Given the description of an element on the screen output the (x, y) to click on. 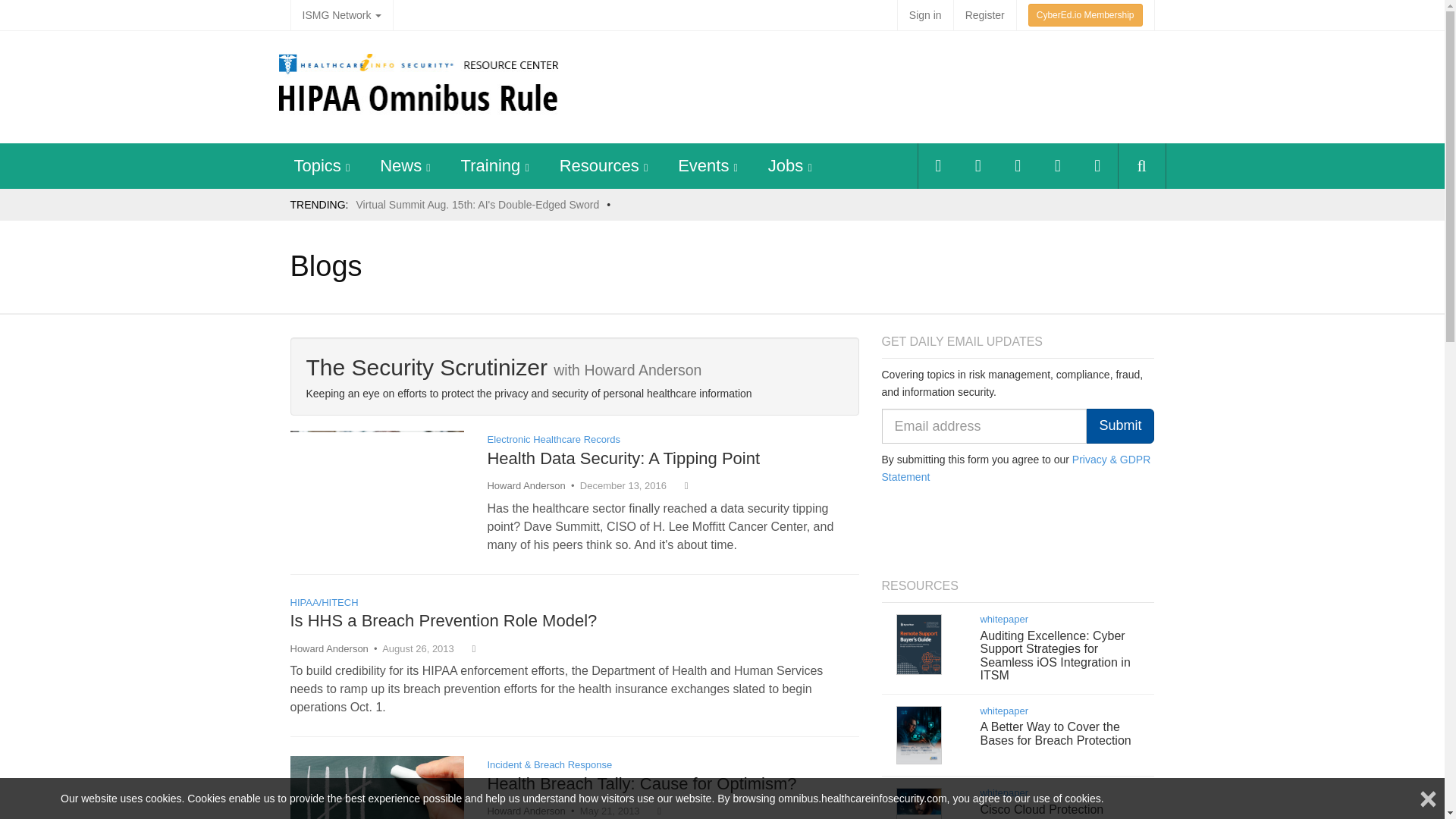
ISMG Network (341, 15)
CyberEd.io Membership (1084, 15)
Sign in (925, 15)
Topics (317, 165)
News (401, 165)
Register (984, 15)
